Given the description of an element on the screen output the (x, y) to click on. 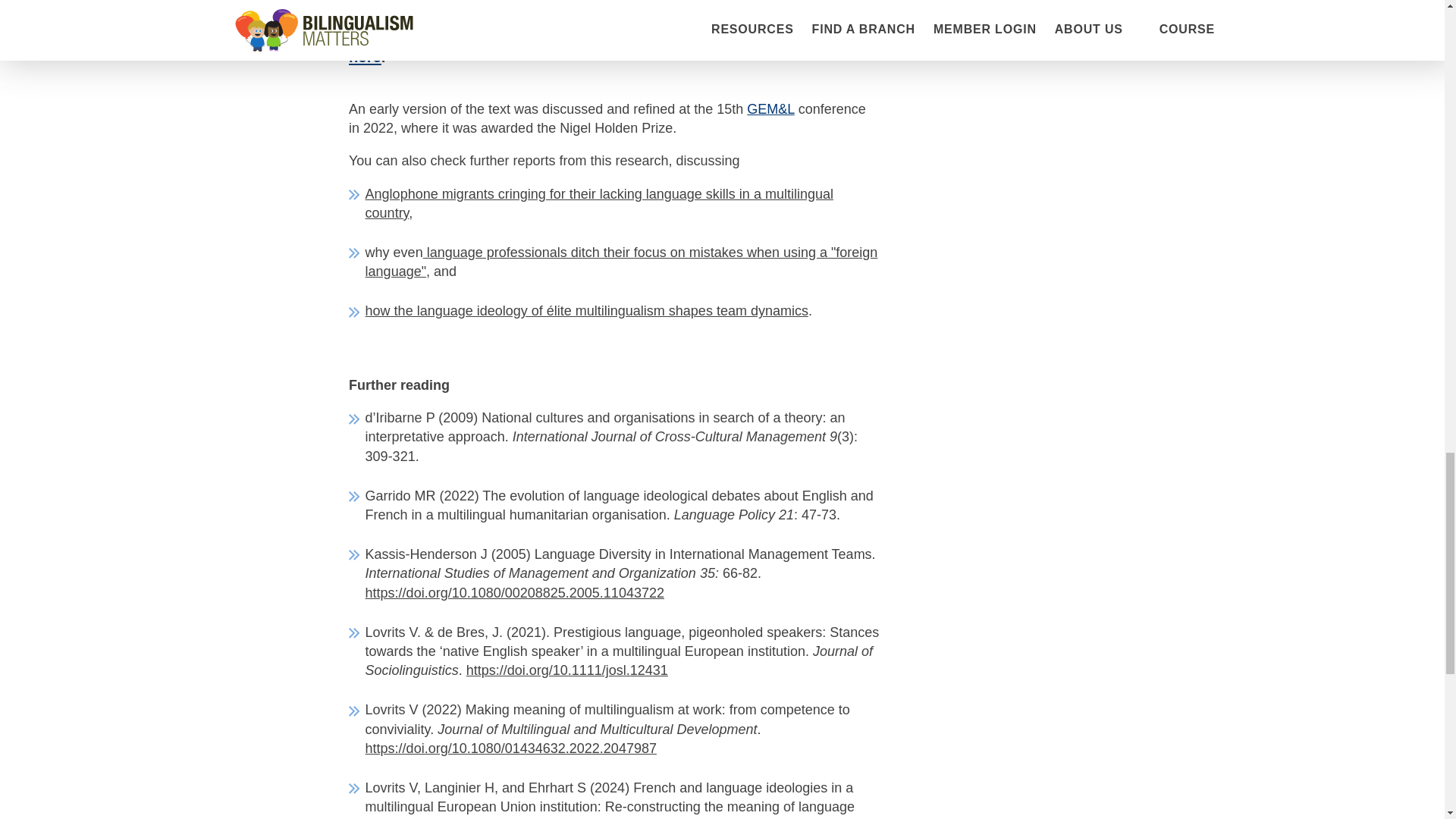
study in a pre-print version can be read here (607, 48)
